Given the description of an element on the screen output the (x, y) to click on. 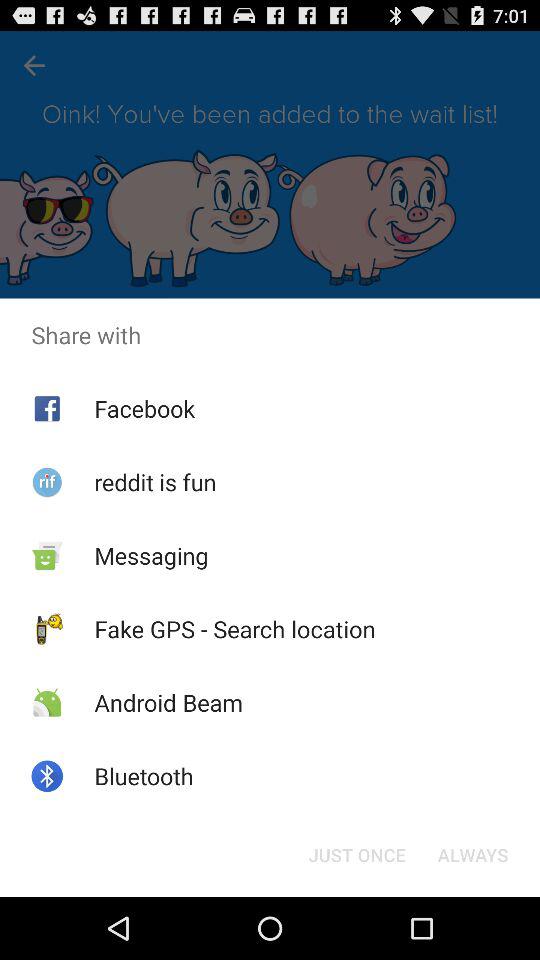
turn off the app below the reddit is fun app (151, 555)
